Given the description of an element on the screen output the (x, y) to click on. 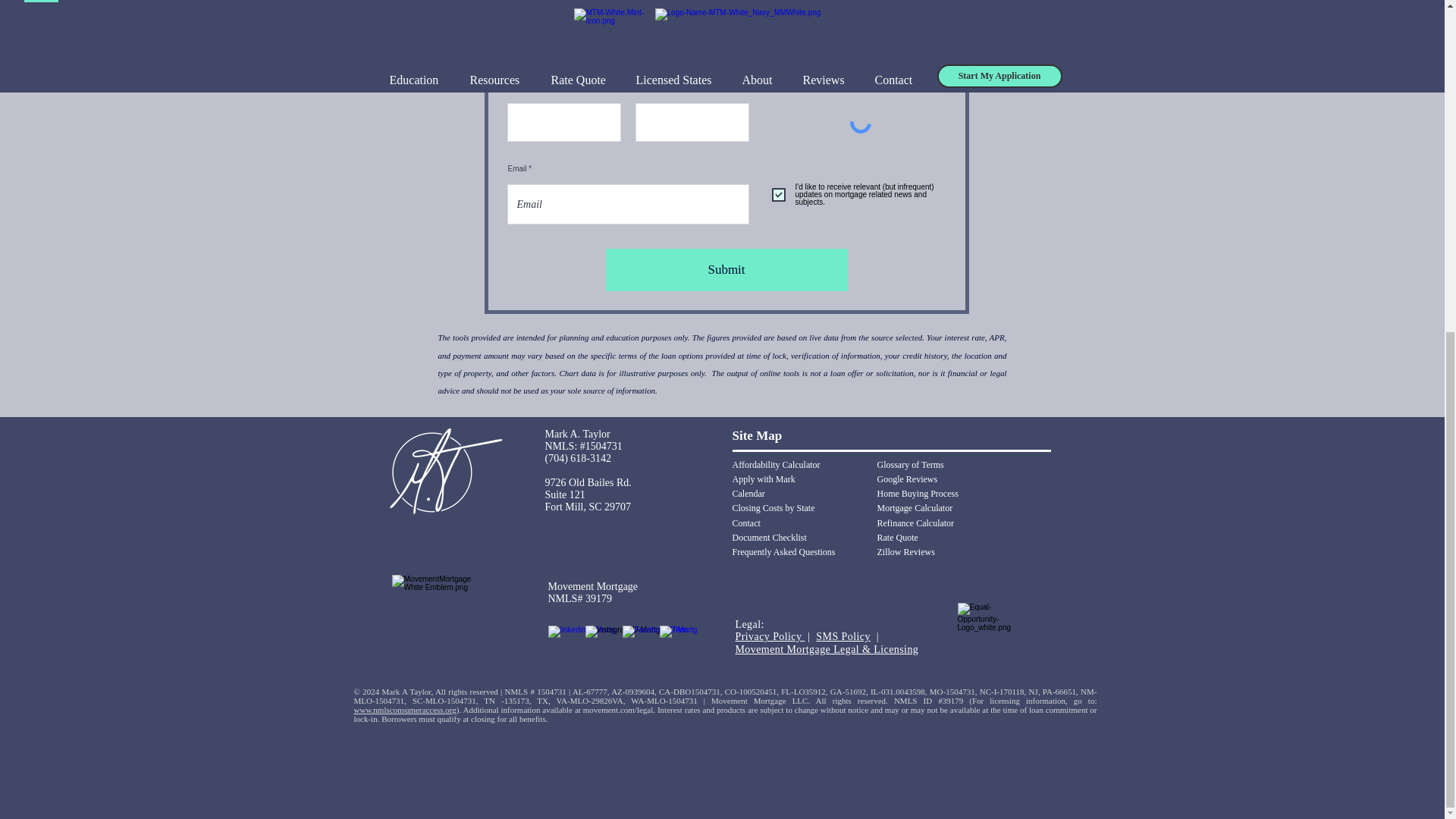
Google Reviews (906, 479)
Frequently Asked Questions (783, 552)
Affordability Calculator (776, 464)
Home Buying Process (917, 493)
Refinance Calculator (914, 522)
Glossary of Terms (909, 464)
Submit (726, 269)
Contact (746, 522)
Document Checklist (769, 537)
Closing Costs by State (773, 507)
